Given the description of an element on the screen output the (x, y) to click on. 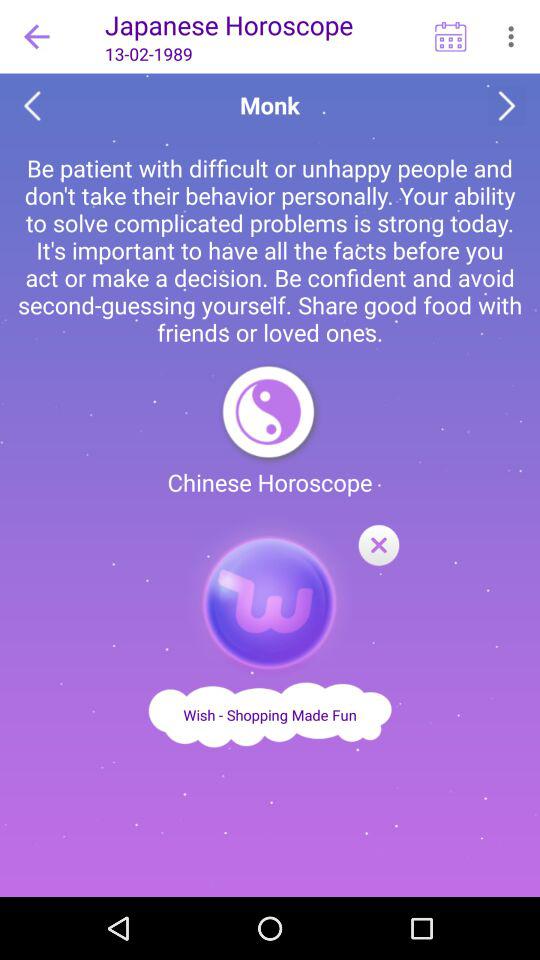
see the next horoscope (506, 106)
